Given the description of an element on the screen output the (x, y) to click on. 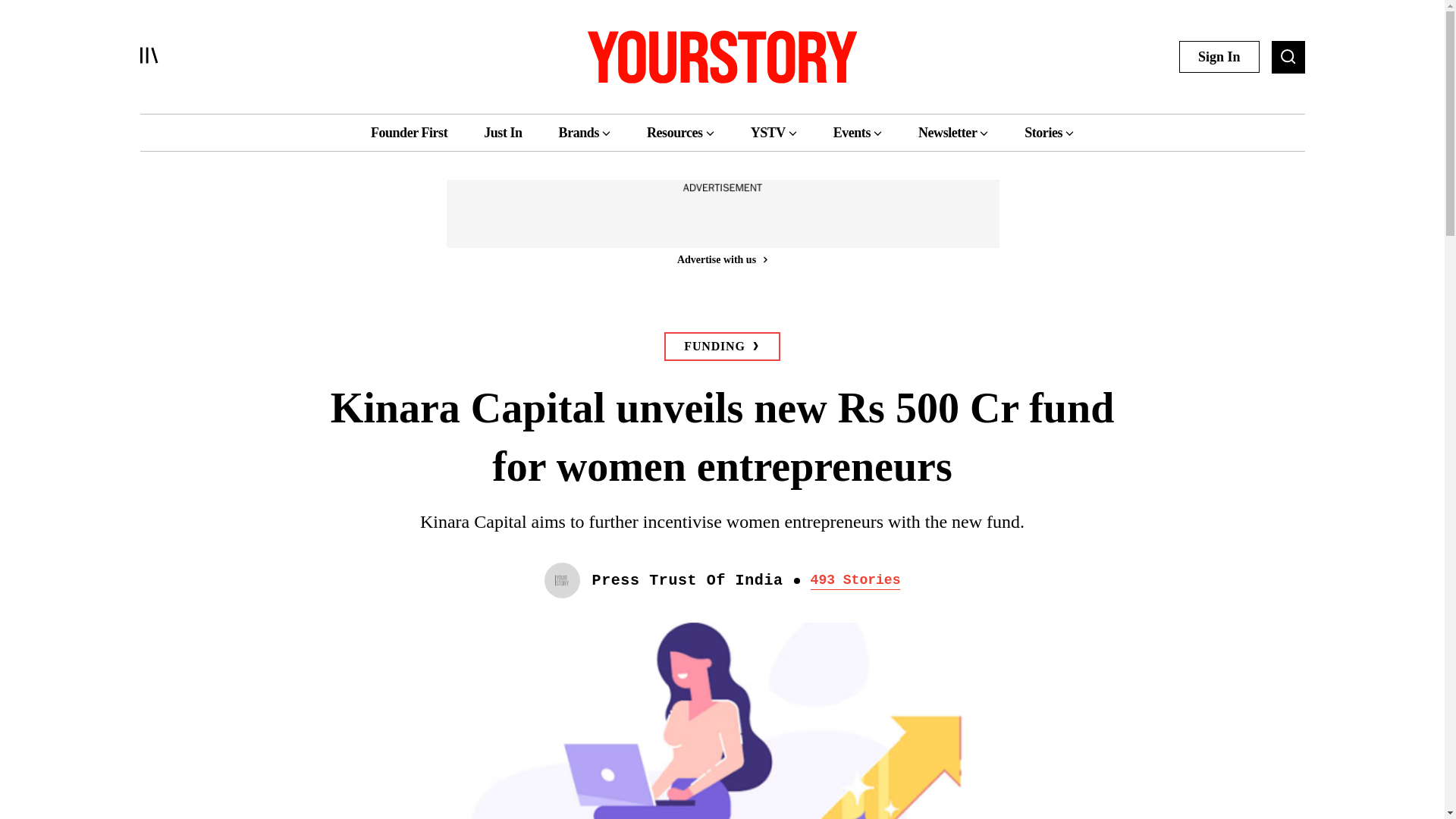
Advertise with us (721, 259)
Just In (502, 132)
Founder First (408, 132)
FUNDING (720, 346)
493 Stories (855, 580)
Press Trust Of India (687, 580)
